Given the description of an element on the screen output the (x, y) to click on. 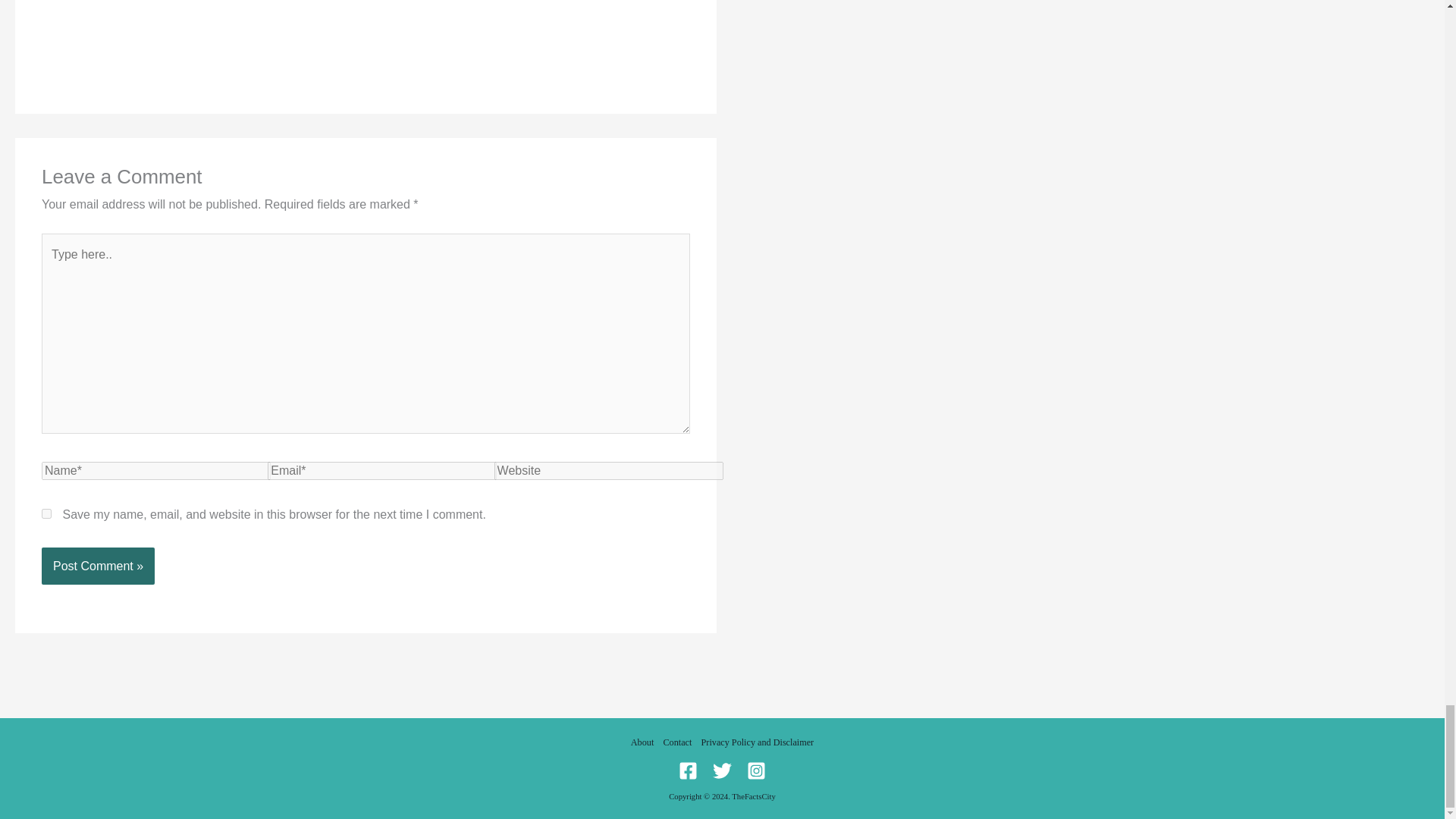
About (644, 742)
yes (46, 513)
